Given the description of an element on the screen output the (x, y) to click on. 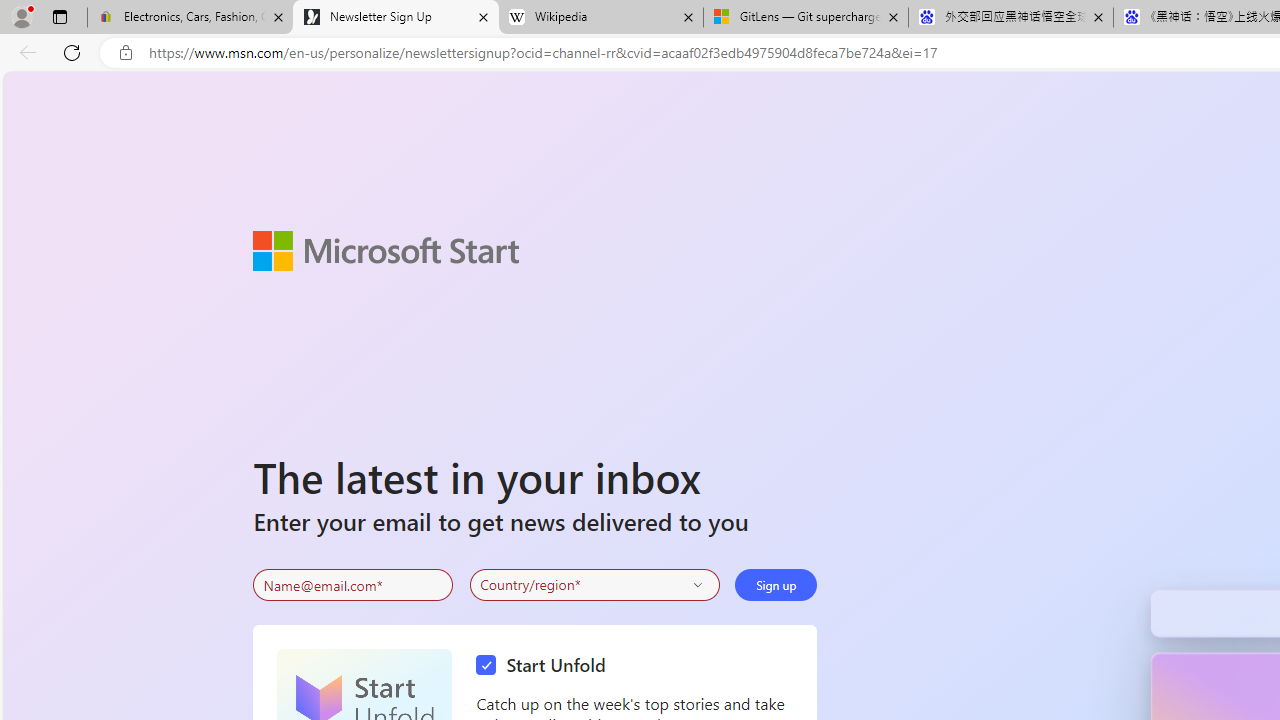
Newsletter Sign Up (395, 17)
Electronics, Cars, Fashion, Collectibles & More | eBay (190, 17)
Select your country (594, 584)
Sign up (775, 584)
Wikipedia (600, 17)
Start Unfold (545, 665)
